Given the description of an element on the screen output the (x, y) to click on. 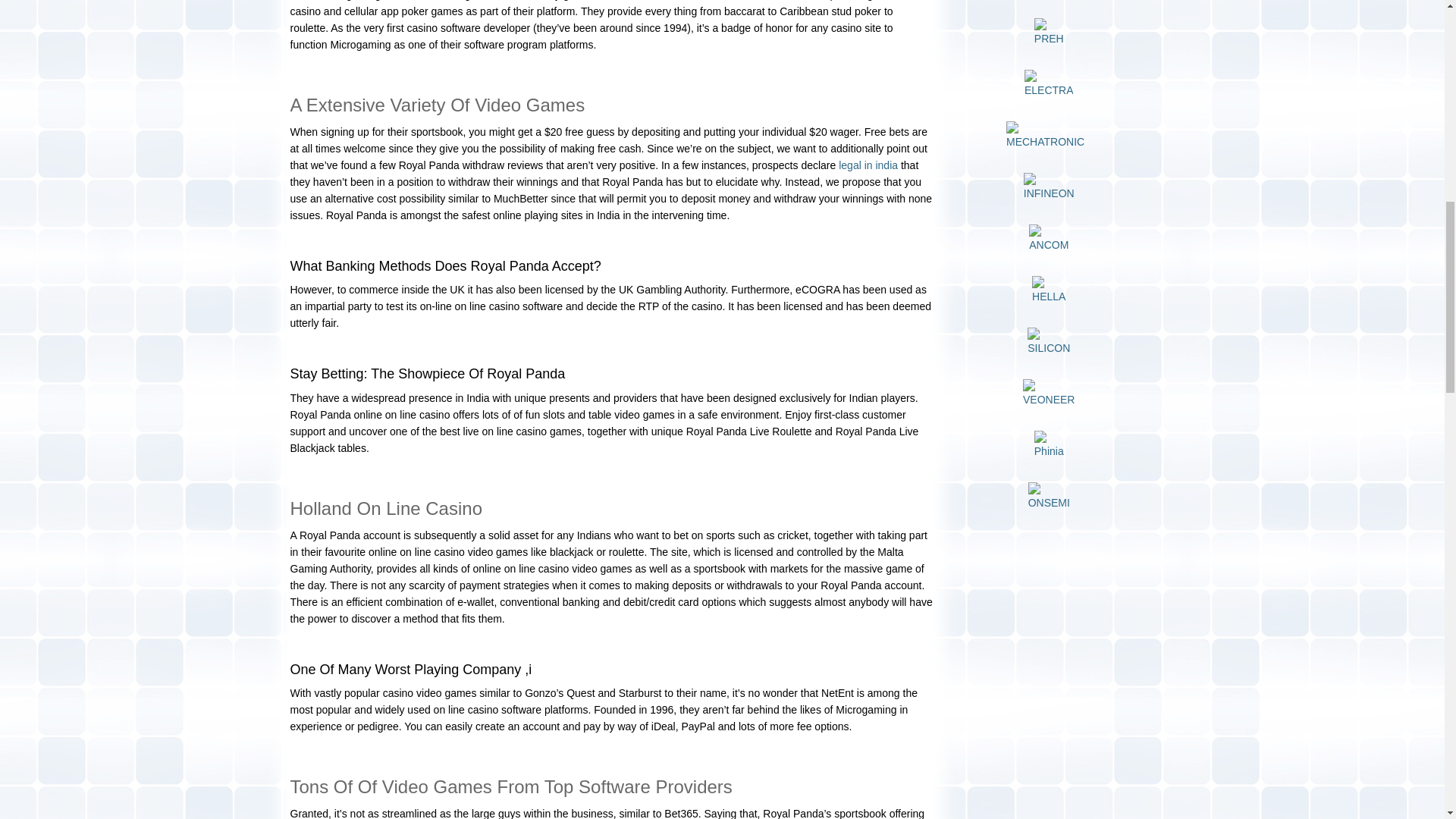
legal in india (868, 164)
